Given the description of an element on the screen output the (x, y) to click on. 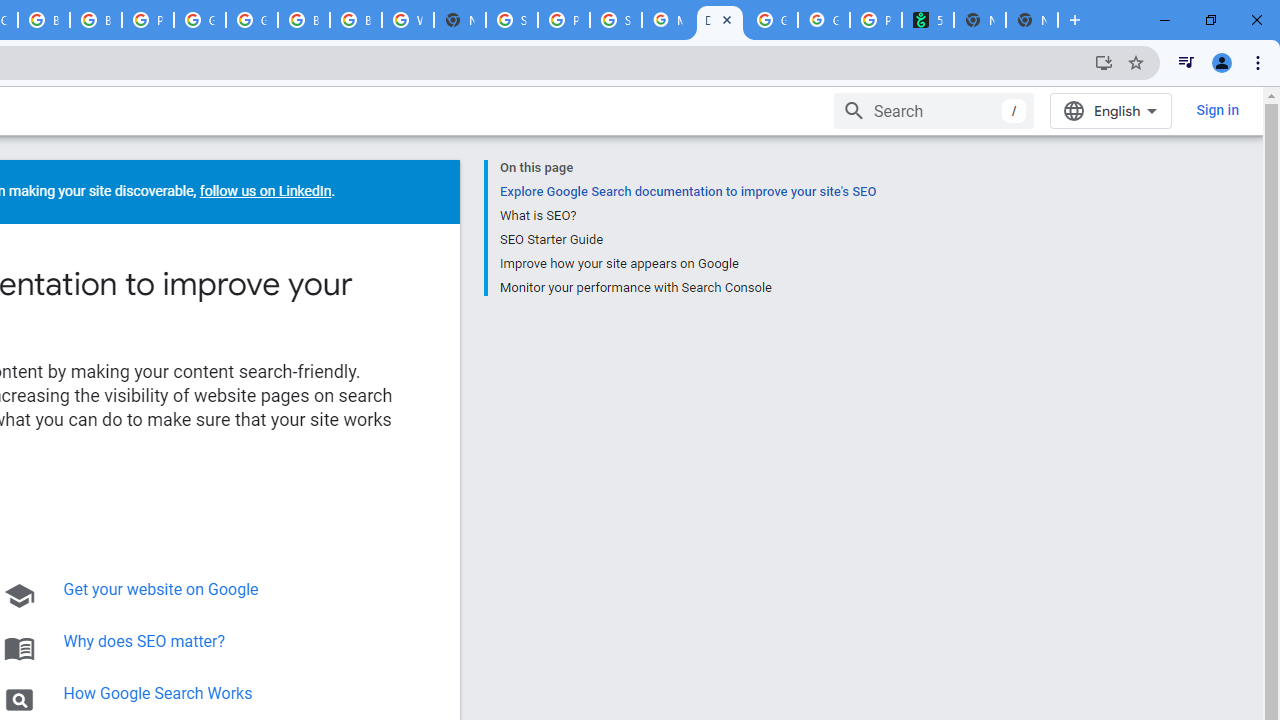
Install Google Developers (1103, 62)
SEO Starter Guide (687, 239)
Why does SEO matter? (144, 641)
Sign in - Google Accounts (511, 20)
Google Cloud Platform (251, 20)
Improve how your site appears on Google (687, 263)
Browse Chrome as a guest - Computer - Google Chrome Help (303, 20)
How Google Search Works (157, 693)
follow us on LinkedIn (264, 191)
